Given the description of an element on the screen output the (x, y) to click on. 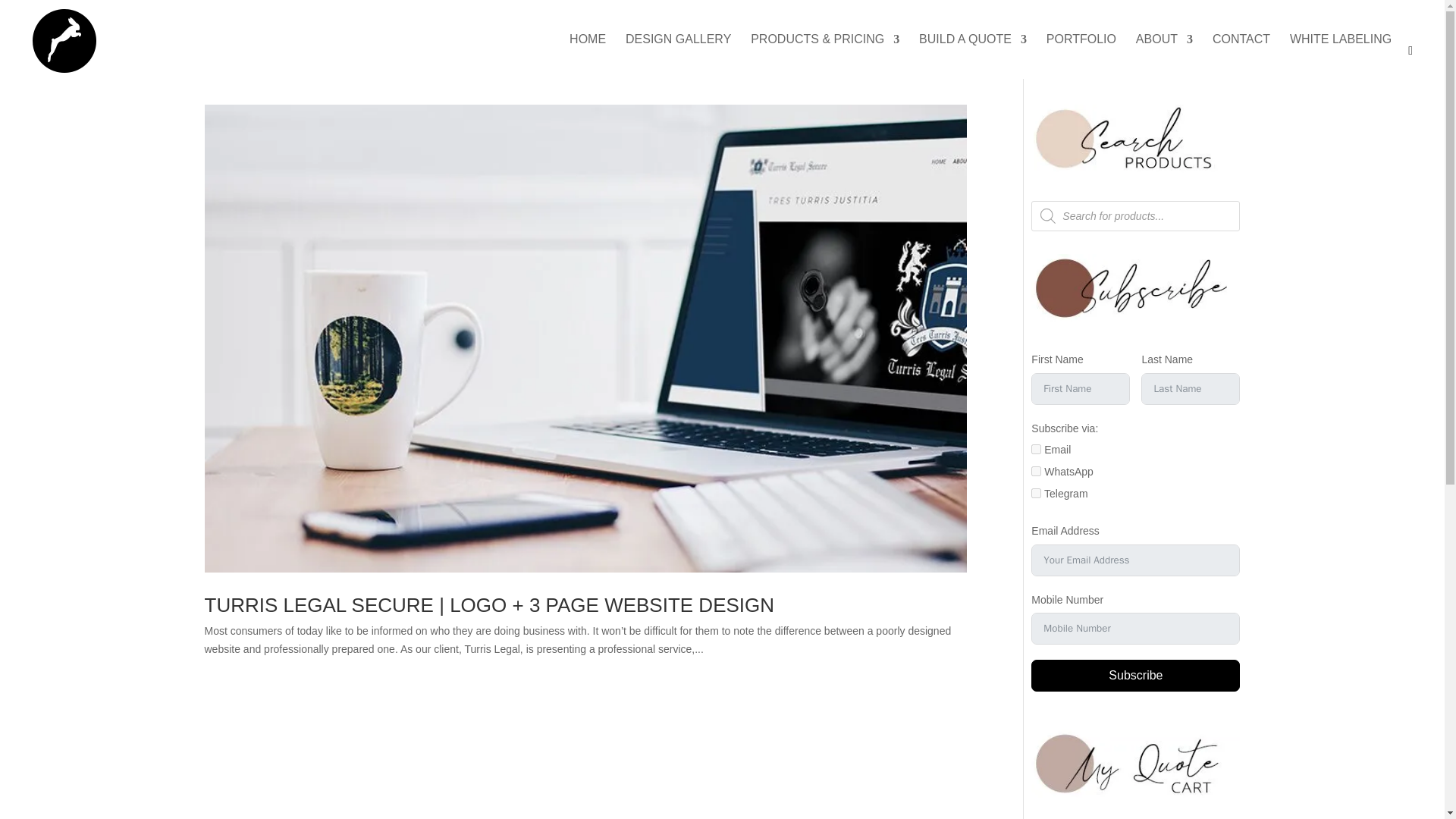
CONTACT (1240, 56)
DESIGN GALLERY (678, 56)
Subscribe (1135, 675)
WHITE LABELING (1340, 56)
Telegram (1035, 492)
PORTFOLIO (1081, 56)
ABOUT (1163, 56)
WhatsApp (1035, 470)
BUILD A QUOTE (972, 56)
Email (1035, 449)
